Given the description of an element on the screen output the (x, y) to click on. 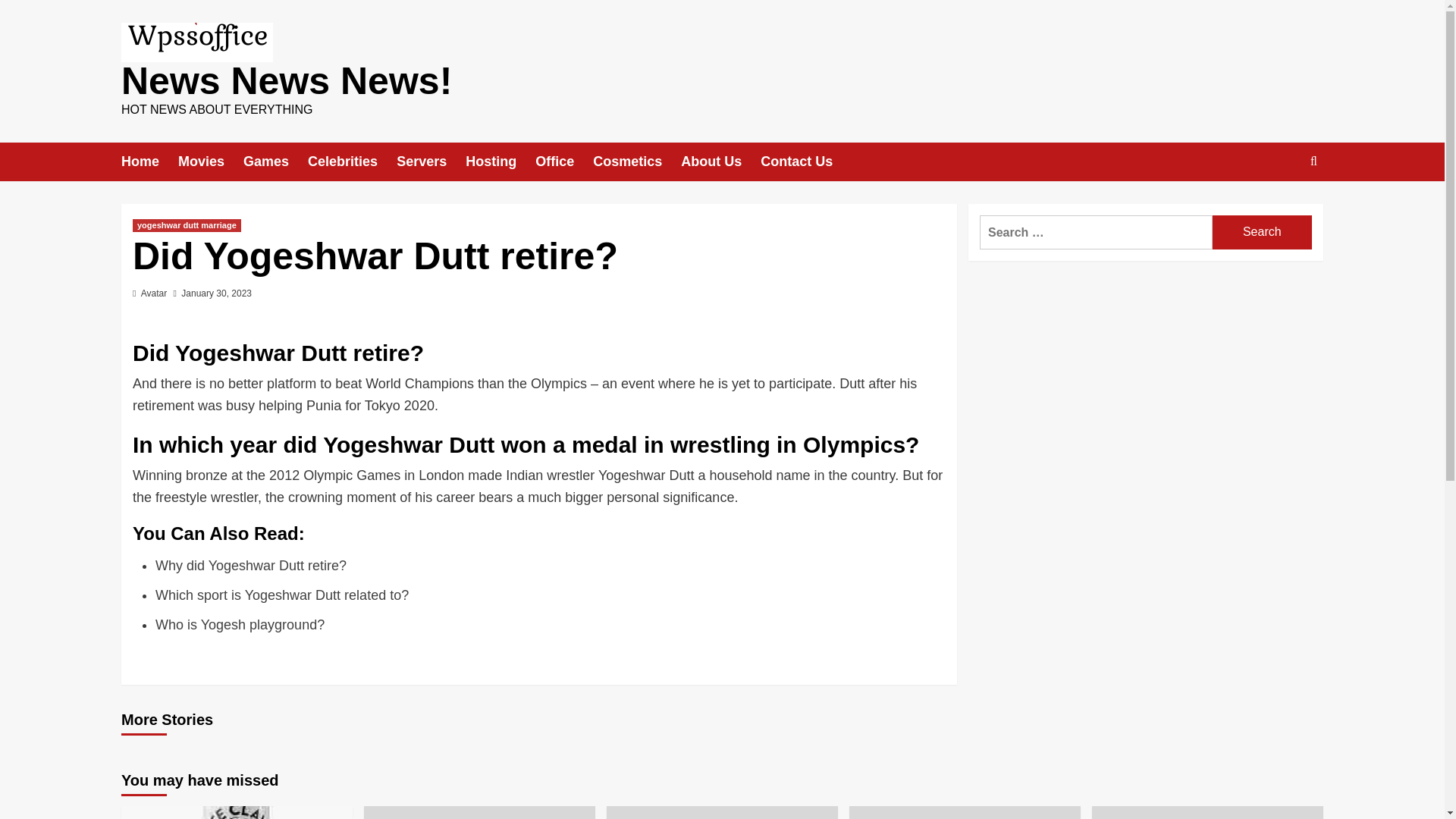
Search (1261, 232)
yogeshwar dutt marriage (186, 225)
Celebrities (351, 161)
Search (1261, 232)
Contact Us (805, 161)
Search (1261, 232)
Cosmetics (636, 161)
Movies (210, 161)
Hosting (500, 161)
Office (563, 161)
About Us (720, 161)
Home (148, 161)
Who is Yogesh playground? (239, 624)
Avatar (154, 293)
Games (275, 161)
